Given the description of an element on the screen output the (x, y) to click on. 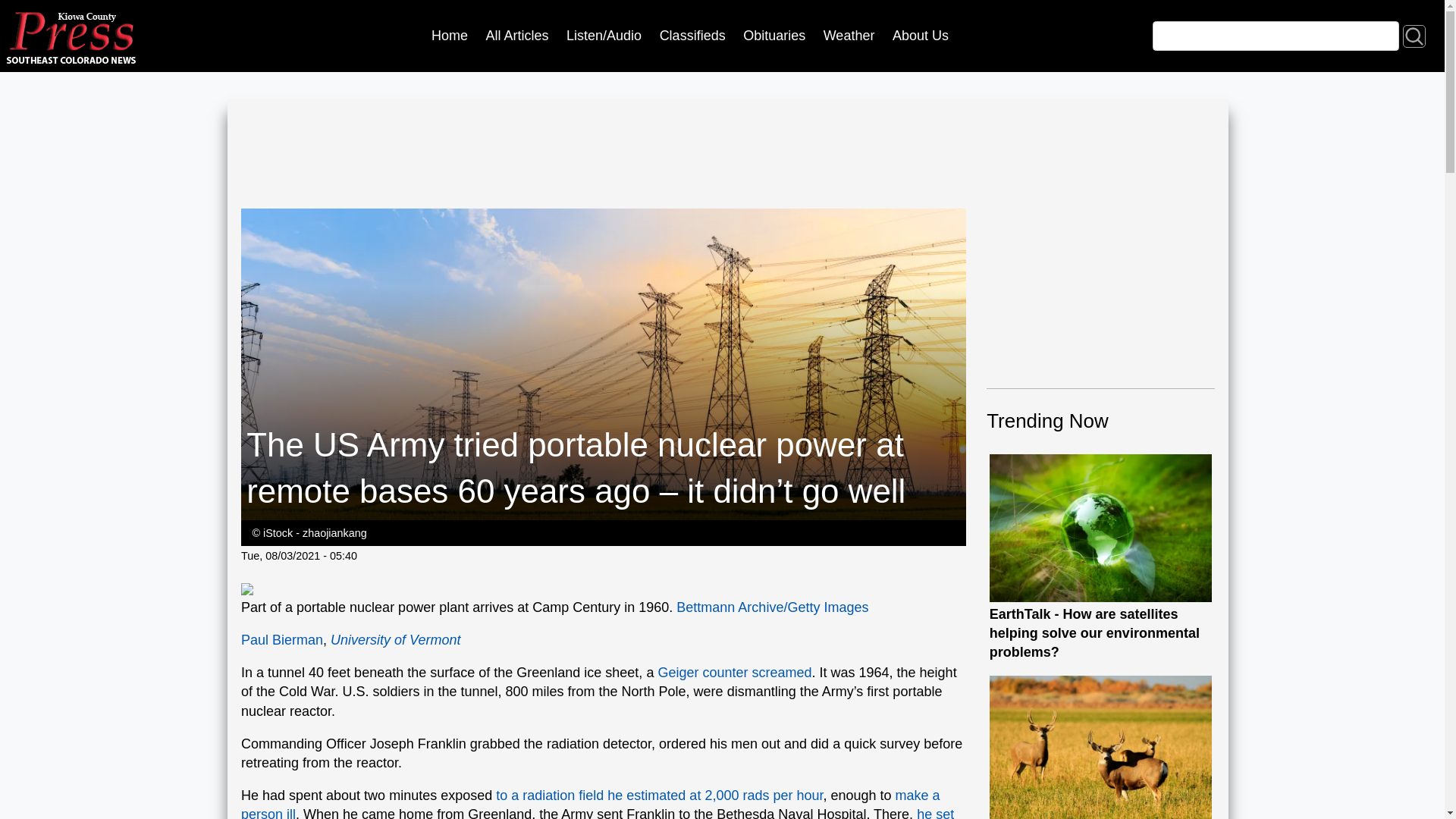
PROMO 660 x 440 - Environment EarthTalk (1101, 527)
3rd party ad content (517, 160)
Tuesday, August 3, 2021 - 05:40 (298, 555)
make a person ill (590, 803)
Search (1414, 35)
to a radiation field he estimated at 2,000 rads per hour (659, 795)
Weather (849, 35)
View Weather (849, 35)
University of Vermont (395, 639)
Obituaries (774, 35)
view all articles (517, 35)
All Articles (517, 35)
Paul Bierman (282, 639)
he set off (597, 812)
